Given the description of an element on the screen output the (x, y) to click on. 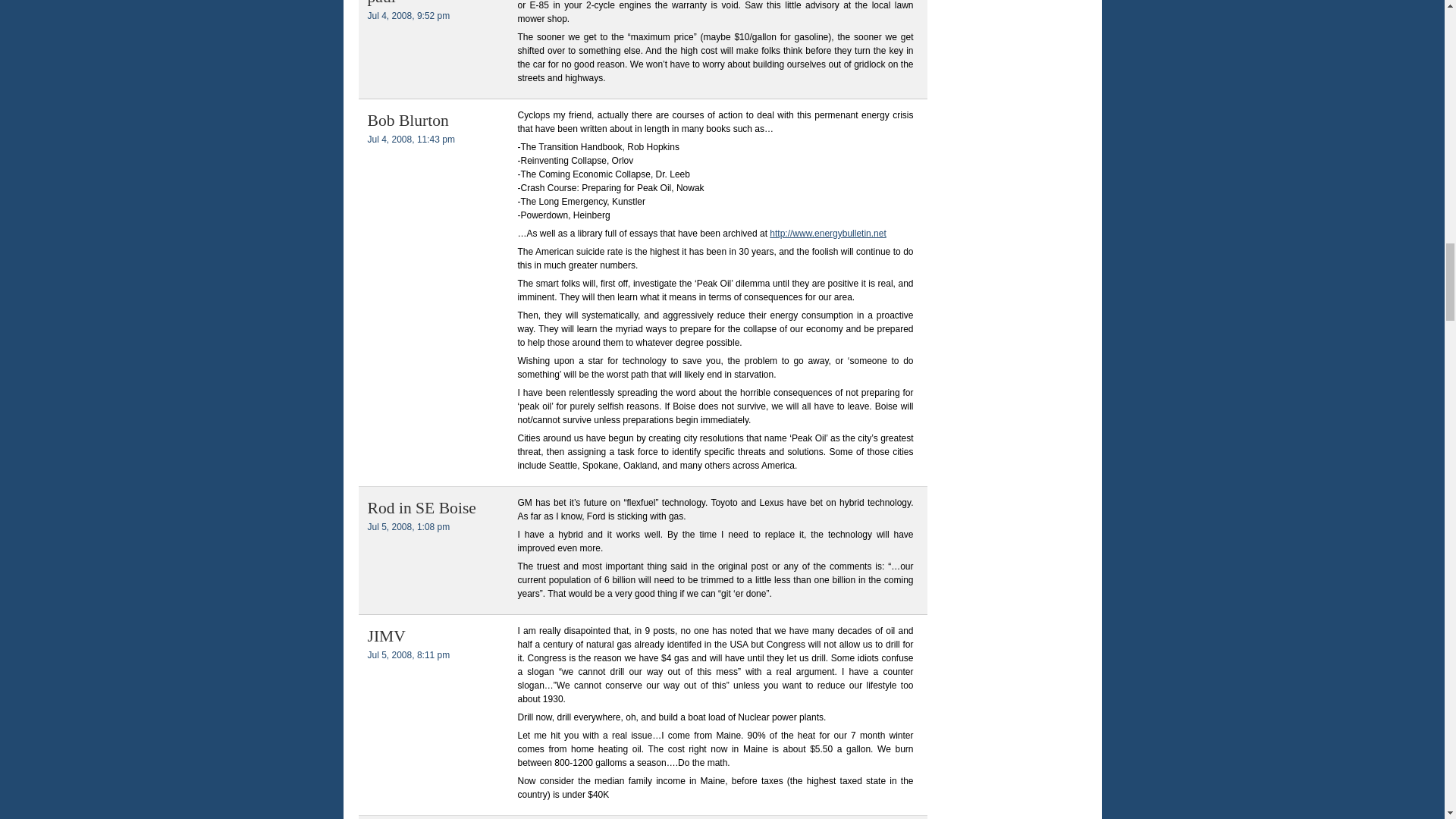
Jul 4, 2008, 11:43 pm (410, 139)
Jul 5, 2008, 8:11 pm (407, 655)
Jul 5, 2008, 1:08 pm (407, 526)
Jul 4, 2008, 9:52 pm (407, 15)
